Given the description of an element on the screen output the (x, y) to click on. 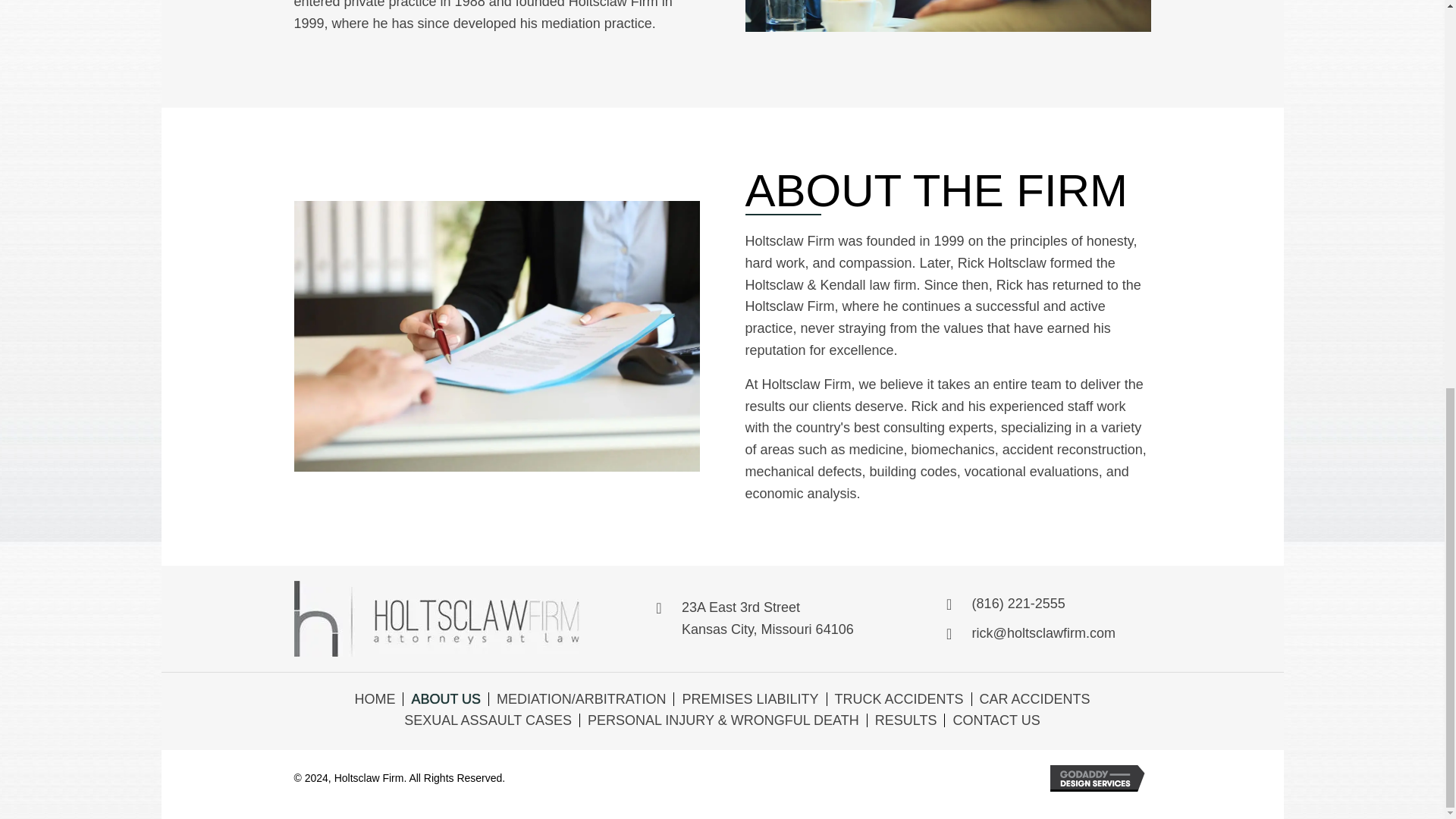
SEXUAL ASSAULT CASES (767, 618)
ABOUT US (488, 720)
PREMISES LIABILITY (445, 698)
RESULTS (749, 698)
CONTACT US (906, 720)
TRUCK ACCIDENTS (995, 720)
HOME (898, 698)
CAR ACCIDENTS (373, 698)
